Given the description of an element on the screen output the (x, y) to click on. 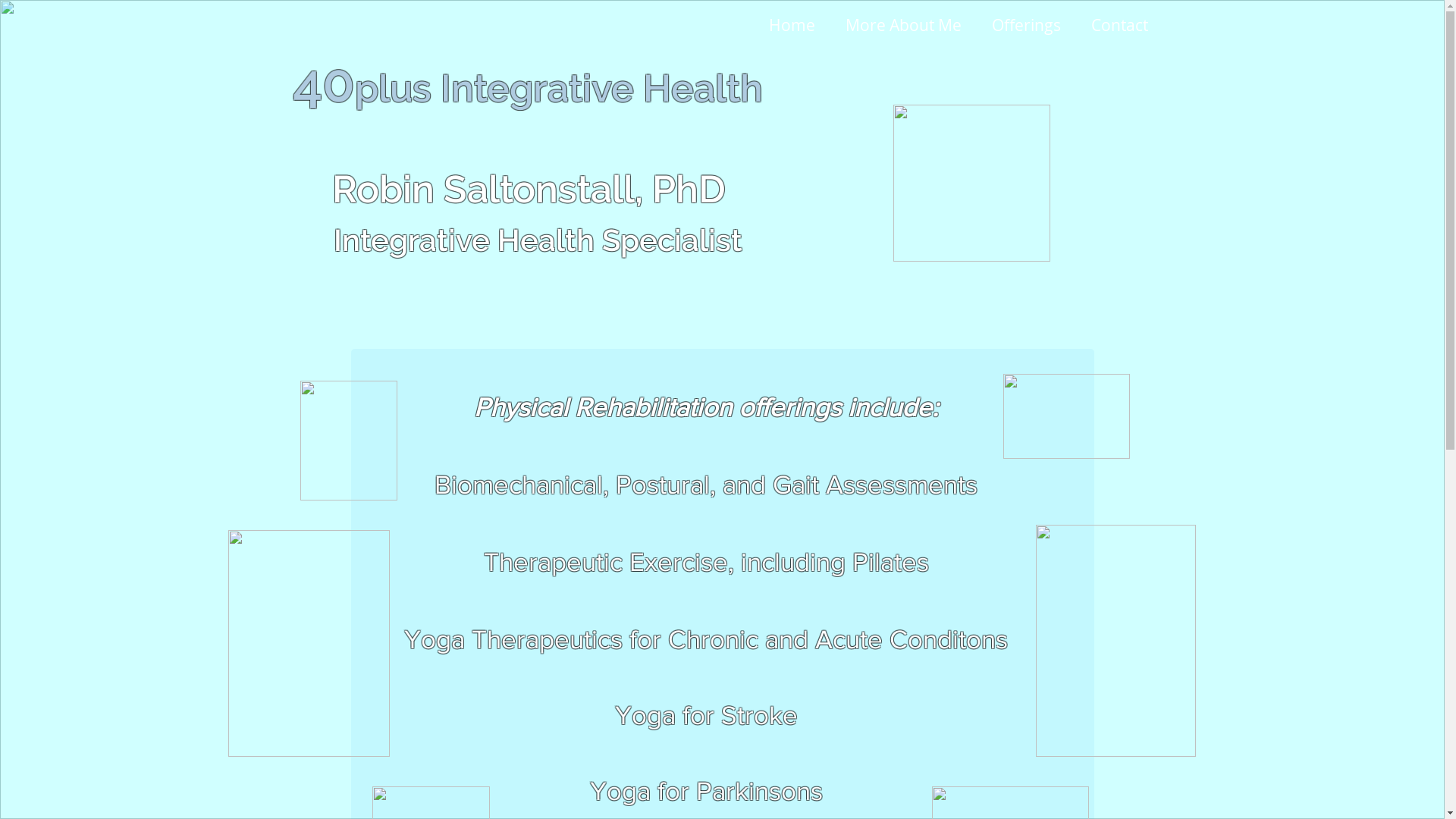
Home Element type: text (791, 24)
Rls bio pic.jpg Element type: hover (971, 182)
Contact Element type: text (1118, 24)
